Given the description of an element on the screen output the (x, y) to click on. 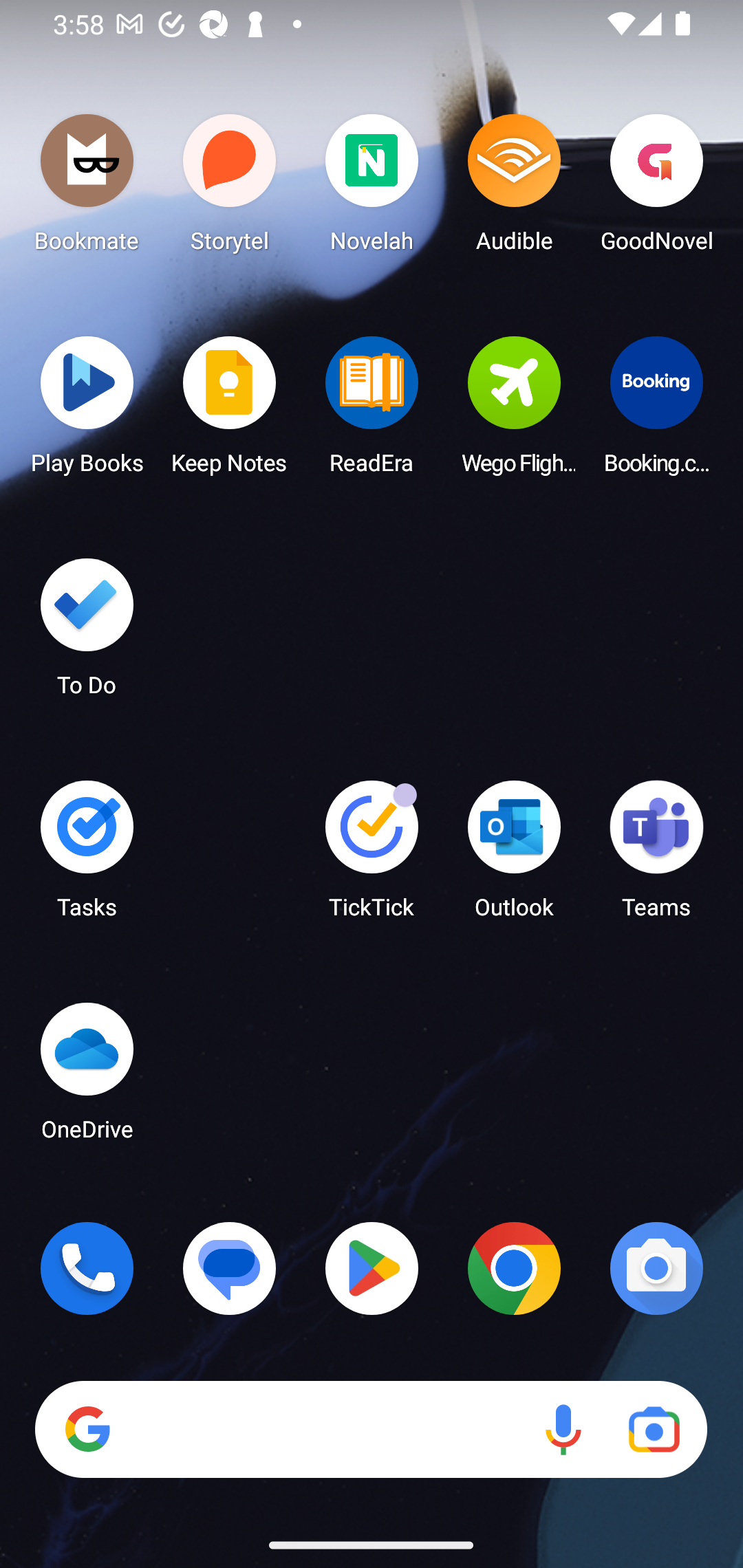
Bookmate (86, 188)
Storytel (229, 188)
Novelah (371, 188)
Audible (513, 188)
GoodNovel (656, 188)
Play Books (86, 410)
Keep Notes (229, 410)
ReadEra (371, 410)
Wego Flights & Hotels (513, 410)
Booking.com (656, 410)
To Do (86, 633)
Tasks (86, 854)
TickTick TickTick has 3 notifications (371, 854)
Outlook (513, 854)
Teams (656, 854)
OneDrive (86, 1076)
Phone (86, 1268)
Messages (229, 1268)
Play Store (371, 1268)
Chrome (513, 1268)
Camera (656, 1268)
Search Voice search Google Lens (370, 1429)
Voice search (562, 1429)
Google Lens (653, 1429)
